Given the description of an element on the screen output the (x, y) to click on. 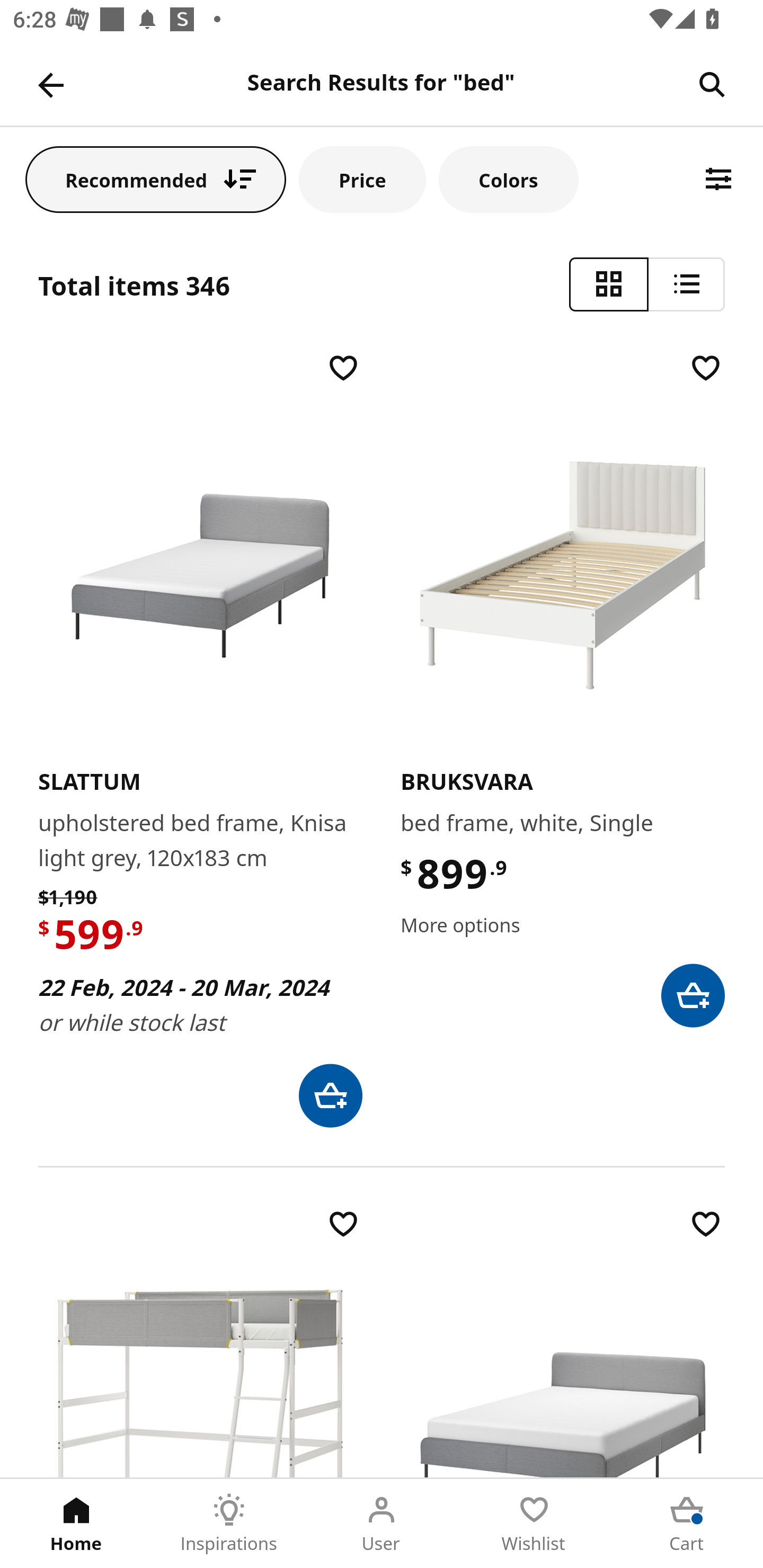
Recommended (155, 179)
Price (362, 179)
Colors (508, 179)
Home
Tab 1 of 5 (76, 1522)
Inspirations
Tab 2 of 5 (228, 1522)
User
Tab 3 of 5 (381, 1522)
Wishlist
Tab 4 of 5 (533, 1522)
Cart
Tab 5 of 5 (686, 1522)
